Given the description of an element on the screen output the (x, y) to click on. 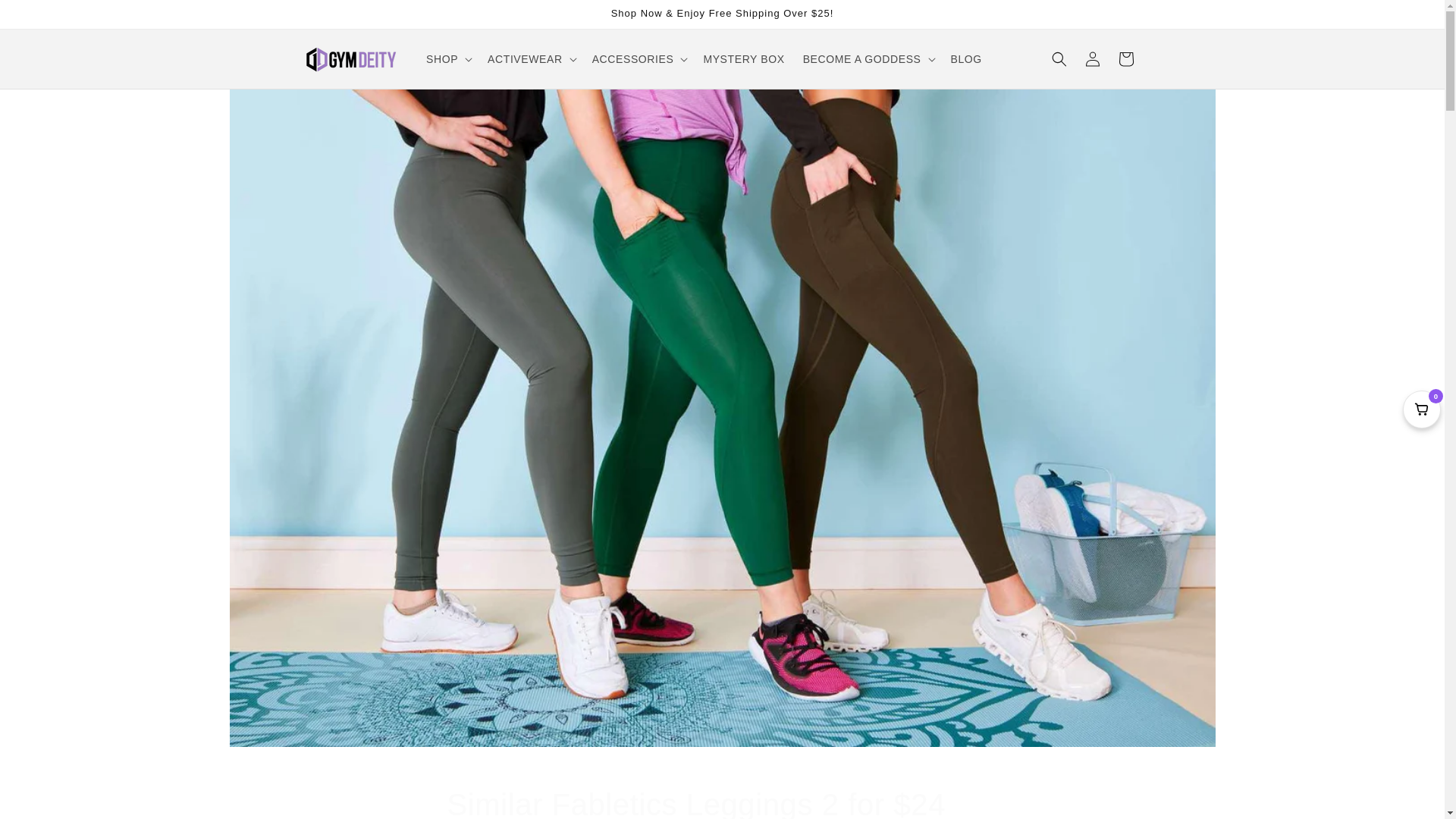
Skip to content (45, 17)
